Given the description of an element on the screen output the (x, y) to click on. 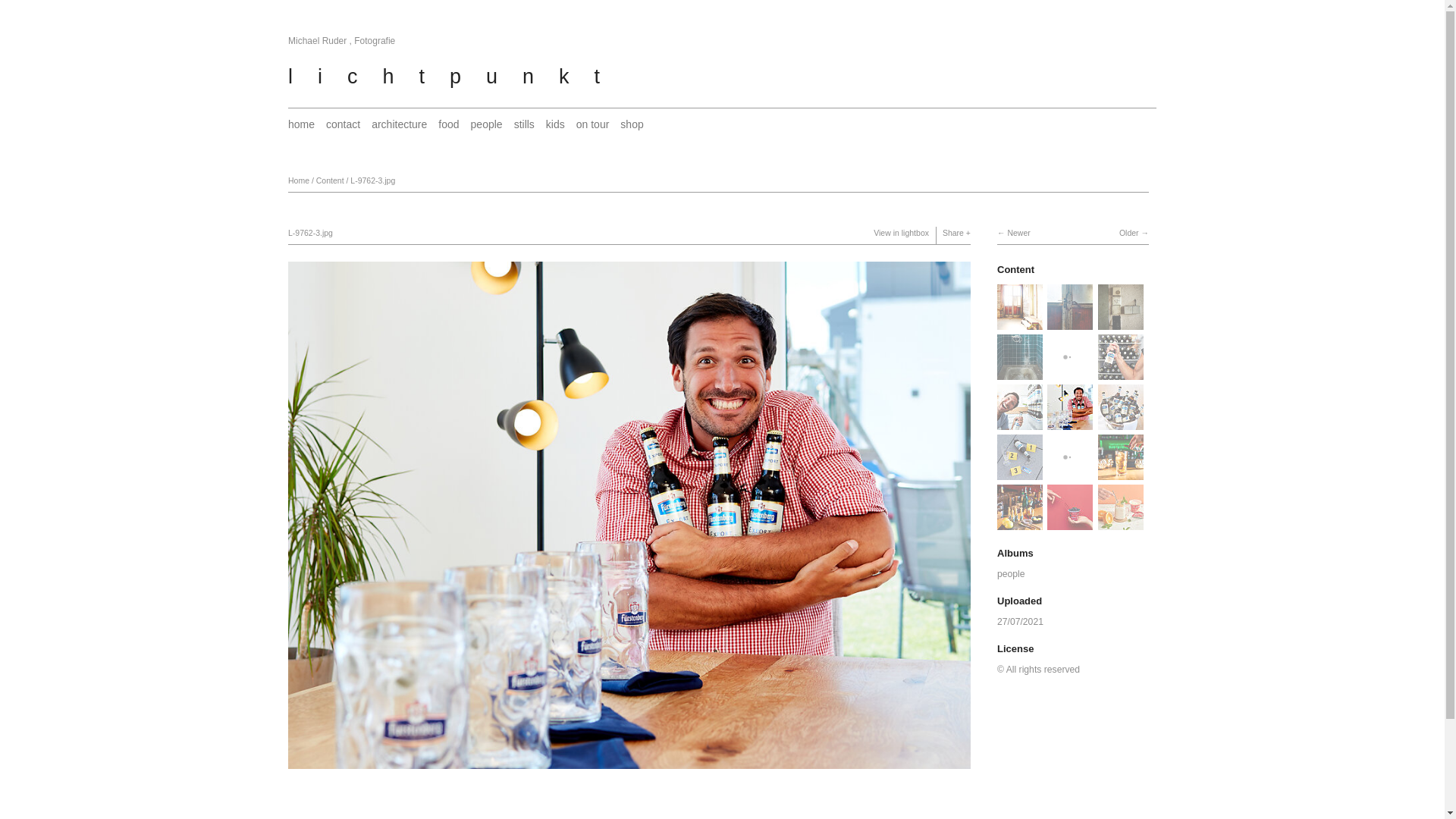
View L-9063-3.jpg Element type: hover (1019, 471)
View L-9131-3.jpg Element type: hover (1120, 371)
Home Element type: text (298, 180)
View L-7475.jpg Element type: hover (1019, 371)
Older Element type: text (1133, 232)
View L-7508.jpg Element type: hover (1120, 321)
architecture Element type: text (398, 124)
Content Element type: text (330, 180)
View L-9906.jpg Element type: hover (1120, 471)
View L-9077-3.jpg Element type: hover (1120, 421)
contact Element type: text (343, 124)
Lightbox Element type: hover (629, 771)
L-9762-3.jpg Element type: text (372, 180)
View L-9103-3.jpg Element type: hover (1019, 421)
stills Element type: text (524, 124)
Content Element type: text (1015, 269)
View L-0230.jpg Element type: hover (1019, 521)
food Element type: text (448, 124)
Newer Element type: text (1013, 232)
shop Element type: text (631, 124)
View 1905203524-3.jpg Element type: hover (1120, 521)
View L-9964.jpg Element type: hover (1069, 471)
View L-7539.jpg Element type: hover (1019, 321)
lichtpunkt Element type: text (456, 76)
View 1905203461-3.jpg Element type: hover (1069, 521)
View in lightbox Element type: text (900, 232)
View L-7552.jpg Element type: hover (1069, 321)
home Element type: text (301, 124)
people Element type: text (1011, 573)
people Element type: text (486, 124)
kids Element type: text (555, 124)
View L-7249-3.jpg Element type: hover (1069, 371)
on tour Element type: text (592, 124)
